Given the description of an element on the screen output the (x, y) to click on. 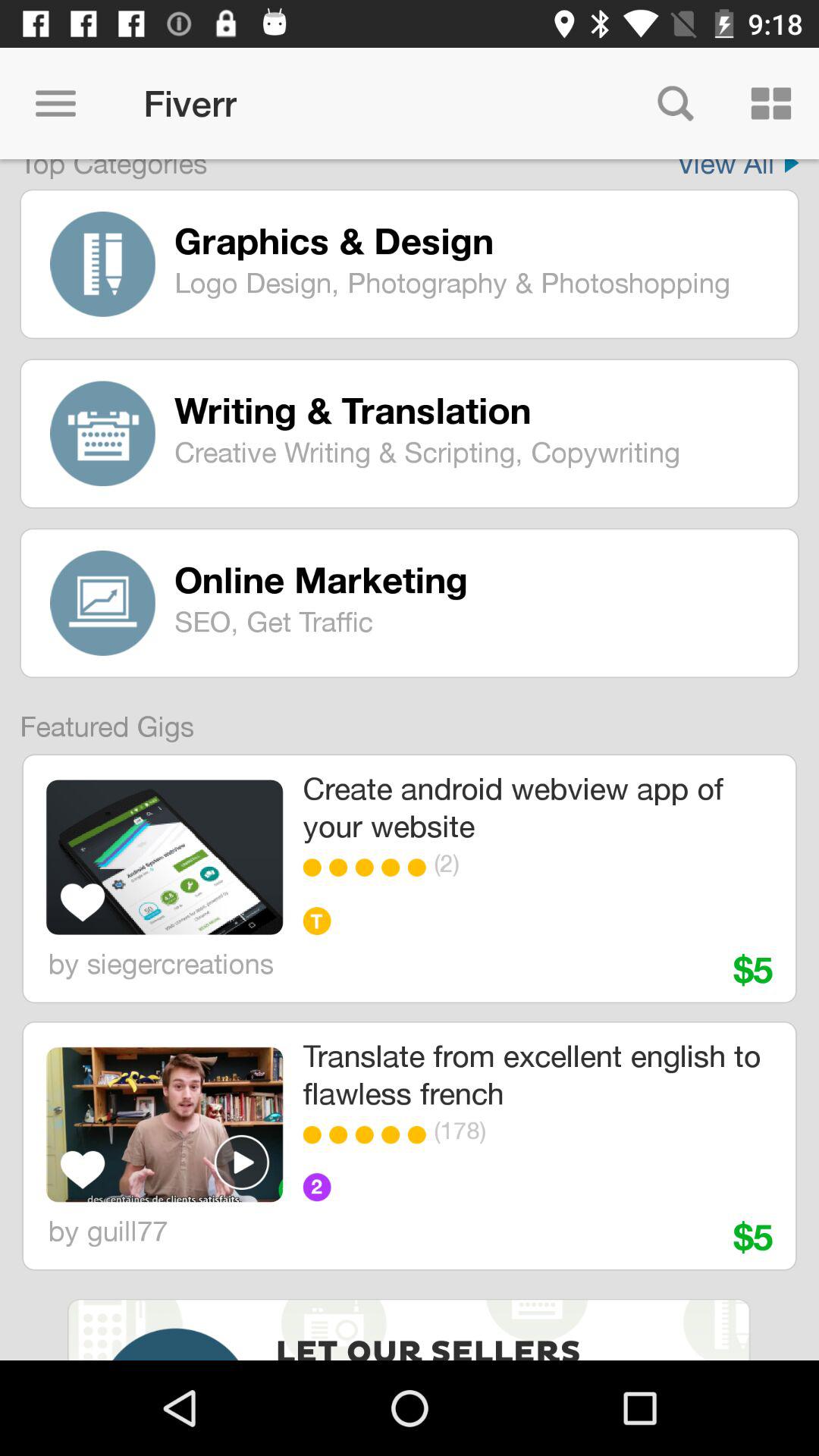
press item below $5 icon (537, 1074)
